Given the description of an element on the screen output the (x, y) to click on. 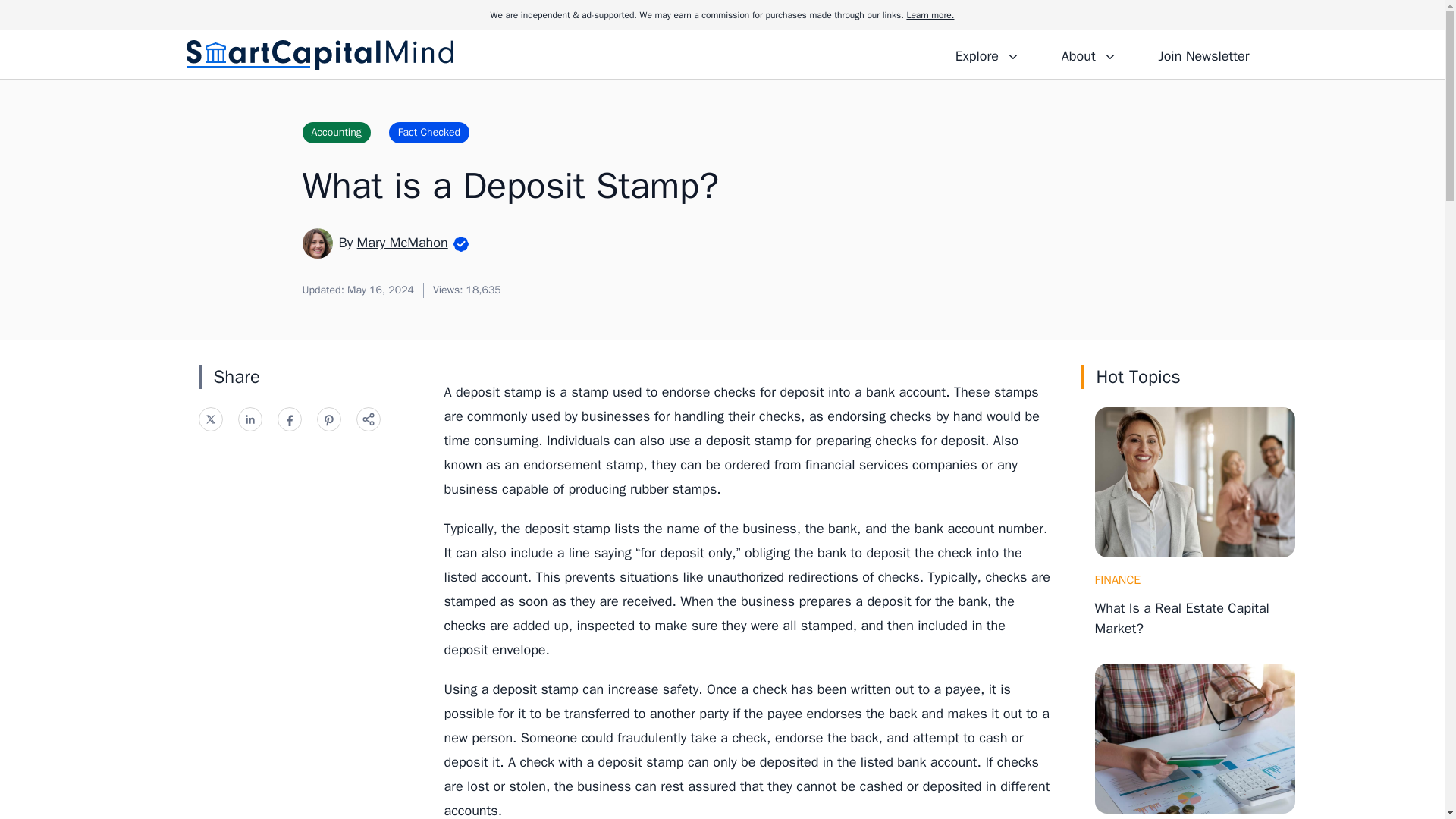
Explore (986, 54)
Join Newsletter (1202, 54)
Mary McMahon (402, 242)
Accounting (335, 132)
About (1088, 54)
Learn more. (929, 15)
Fact Checked (428, 132)
